Given the description of an element on the screen output the (x, y) to click on. 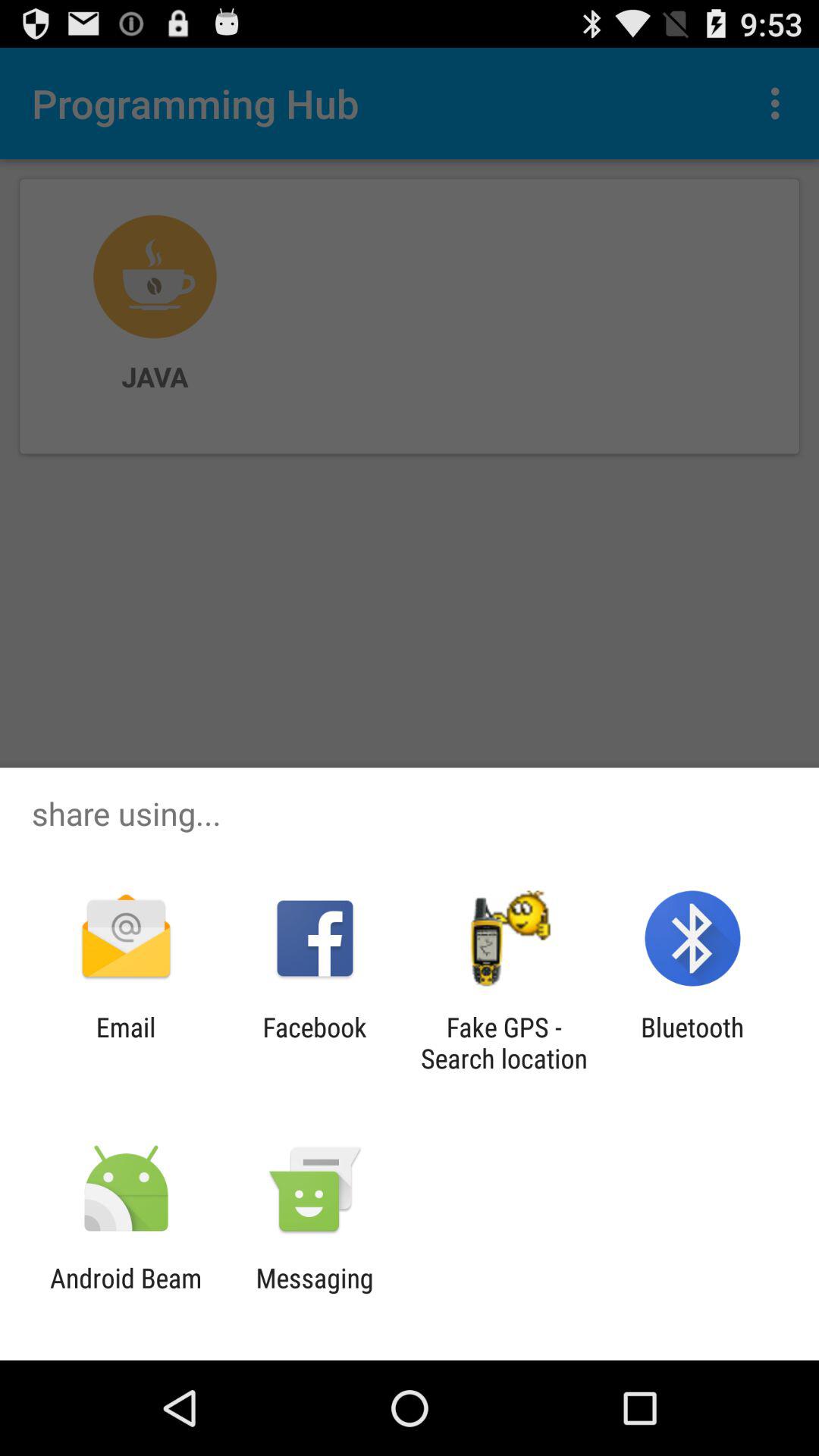
turn off the icon to the left of the bluetooth item (503, 1042)
